Given the description of an element on the screen output the (x, y) to click on. 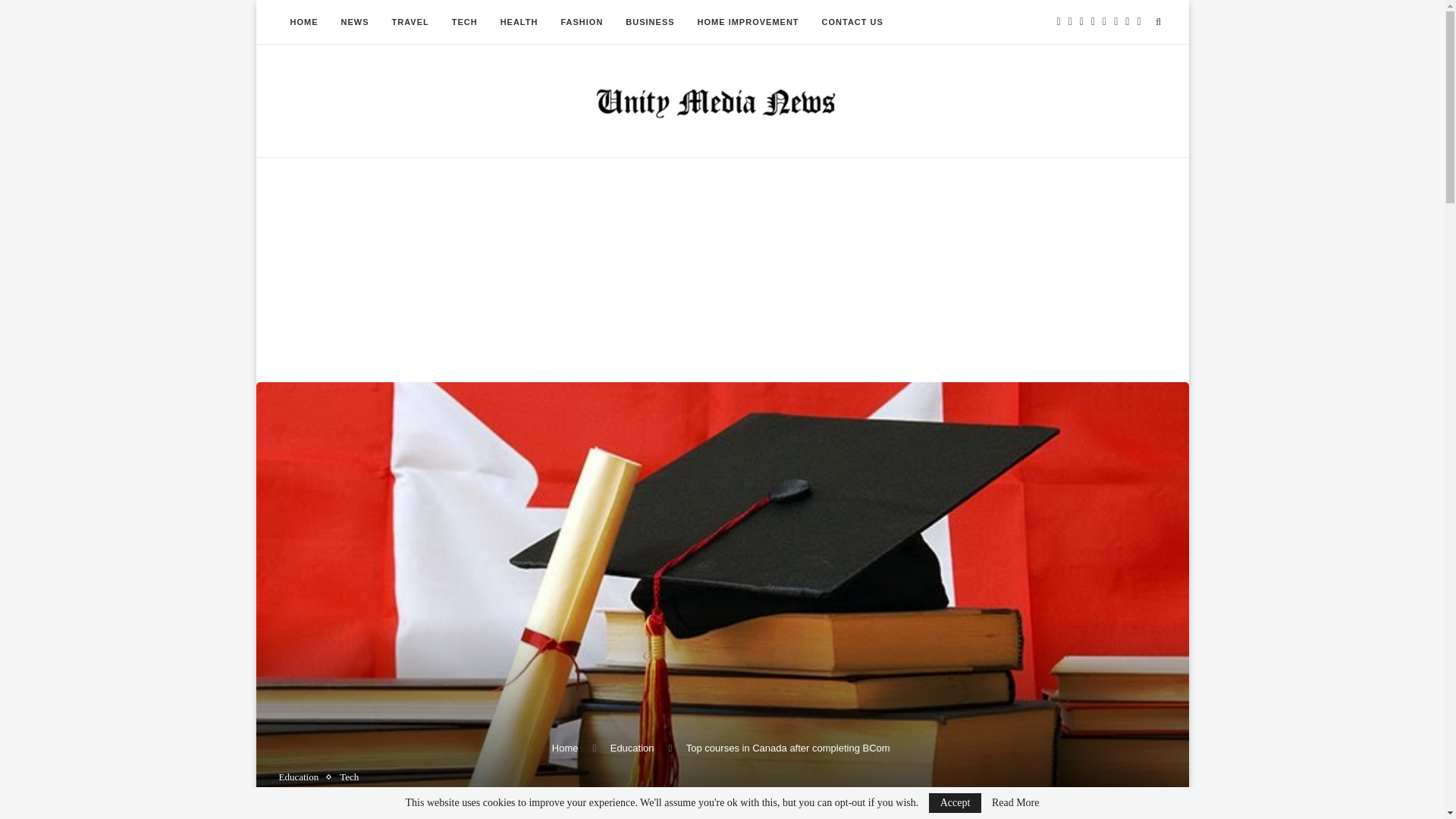
FASHION (581, 22)
Home (564, 747)
TECH (465, 22)
CONTACT US (852, 22)
BUSINESS (649, 22)
HOME (304, 22)
HOME IMPROVEMENT (747, 22)
NEWS (354, 22)
HEALTH (519, 22)
TRAVEL (410, 22)
